Given the description of an element on the screen output the (x, y) to click on. 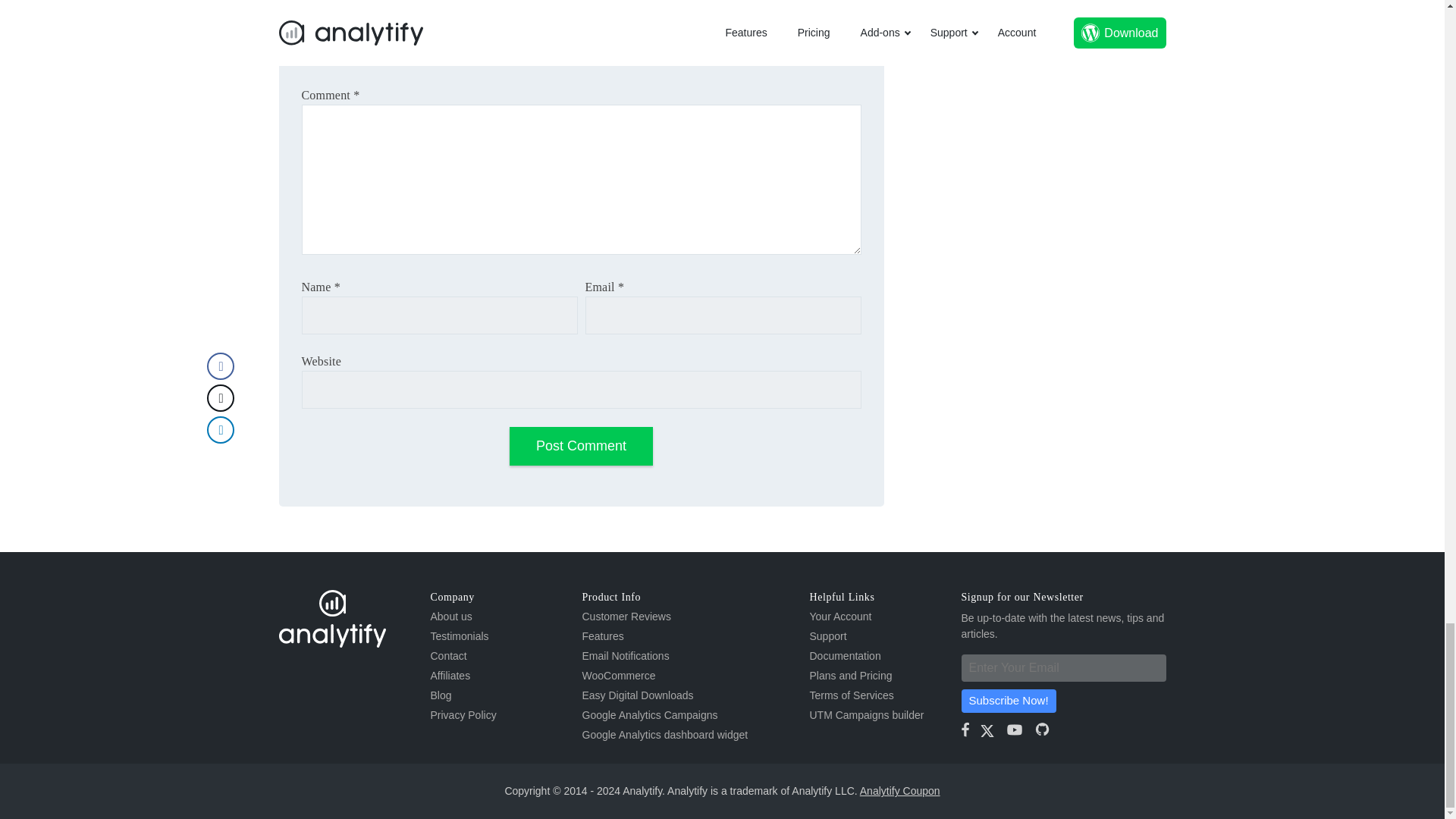
Become an Affiliate and earn money (450, 675)
Post Comment (580, 446)
Subscribe Now! (1008, 700)
